Given the description of an element on the screen output the (x, y) to click on. 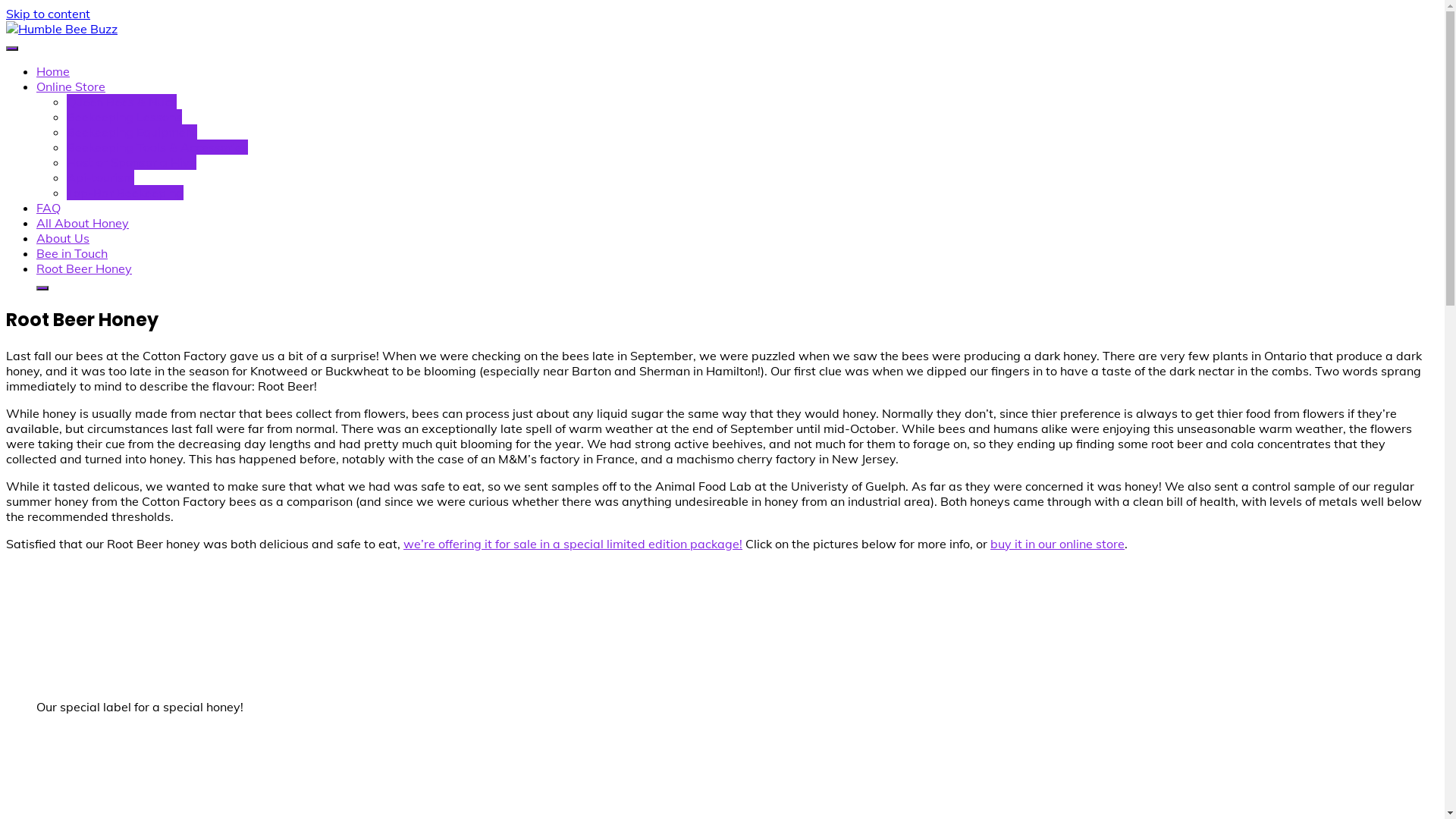
Online Store Element type: text (70, 86)
All About Honey Element type: text (82, 222)
Skip to content Element type: text (48, 13)
Beekeeping Tools & Accessories Element type: text (156, 146)
Humble Bee Buzz Element type: text (55, 55)
About Us Element type: text (62, 237)
Our special label for a special honey! Element type: hover (102, 629)
Top-Bar Beekeeping Element type: text (124, 192)
Home Element type: text (52, 70)
Beekeeping Lessons Element type: text (124, 116)
buy it in our online store Element type: text (1057, 543)
Host or Sponsor a Hive Element type: text (131, 161)
Queen Bees & Nucs Element type: text (121, 101)
Api-tourism Element type: text (100, 177)
Beekeeping Equipment Element type: text (131, 131)
Bee in Touch Element type: text (71, 252)
Root Beer Honey Element type: text (83, 268)
FAQ Element type: text (48, 207)
